Given the description of an element on the screen output the (x, y) to click on. 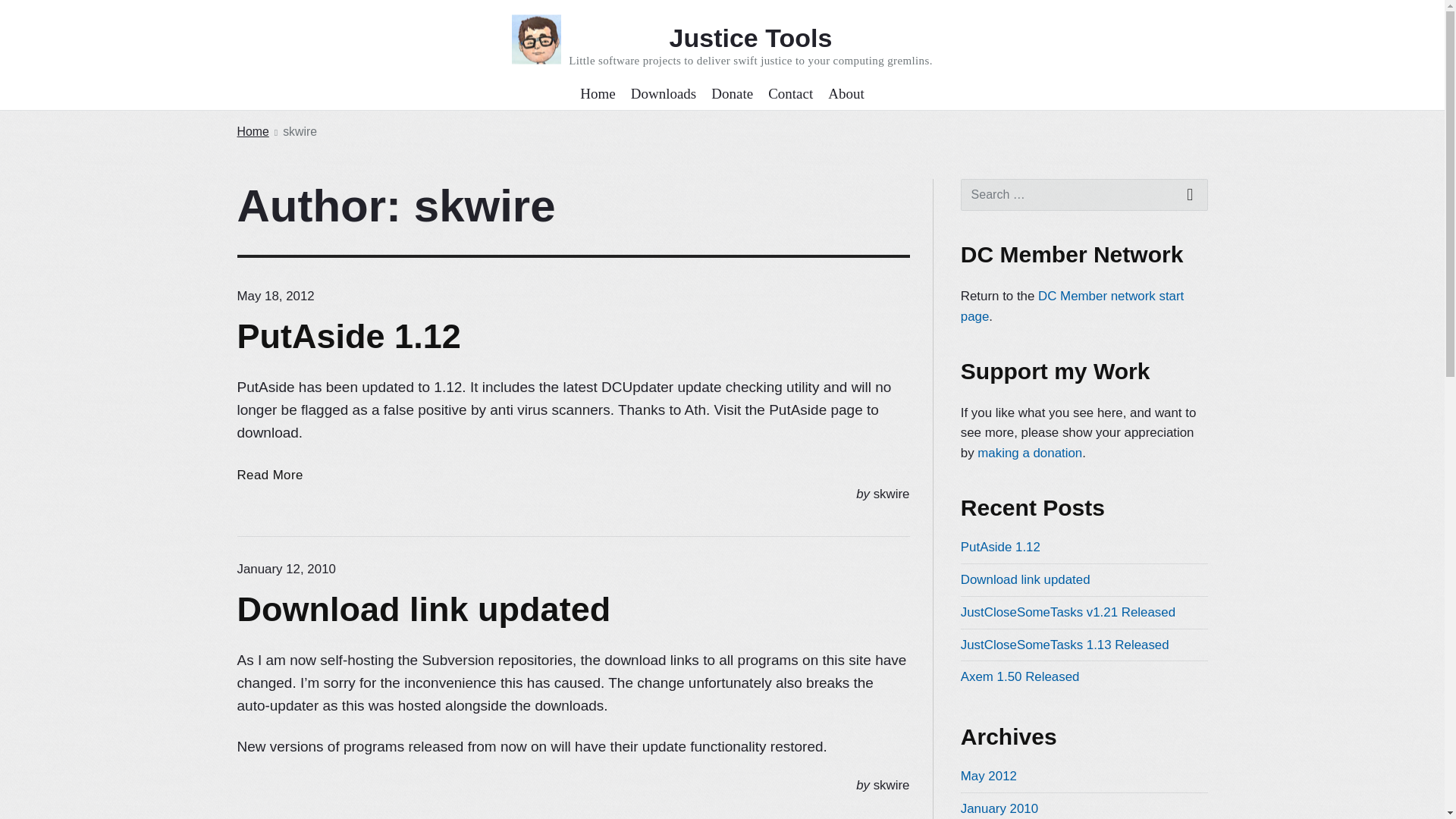
Posts by skwire (891, 493)
PutAside 1.12 (1000, 546)
Home (251, 131)
Donate (731, 93)
JustCloseSomeTasks 1.13 Released (1064, 644)
skwire (891, 493)
May 2012 (268, 474)
Tuesday, January 12, 2010, 12:07 am (988, 775)
PutAside 1.12 (284, 568)
